Given the description of an element on the screen output the (x, y) to click on. 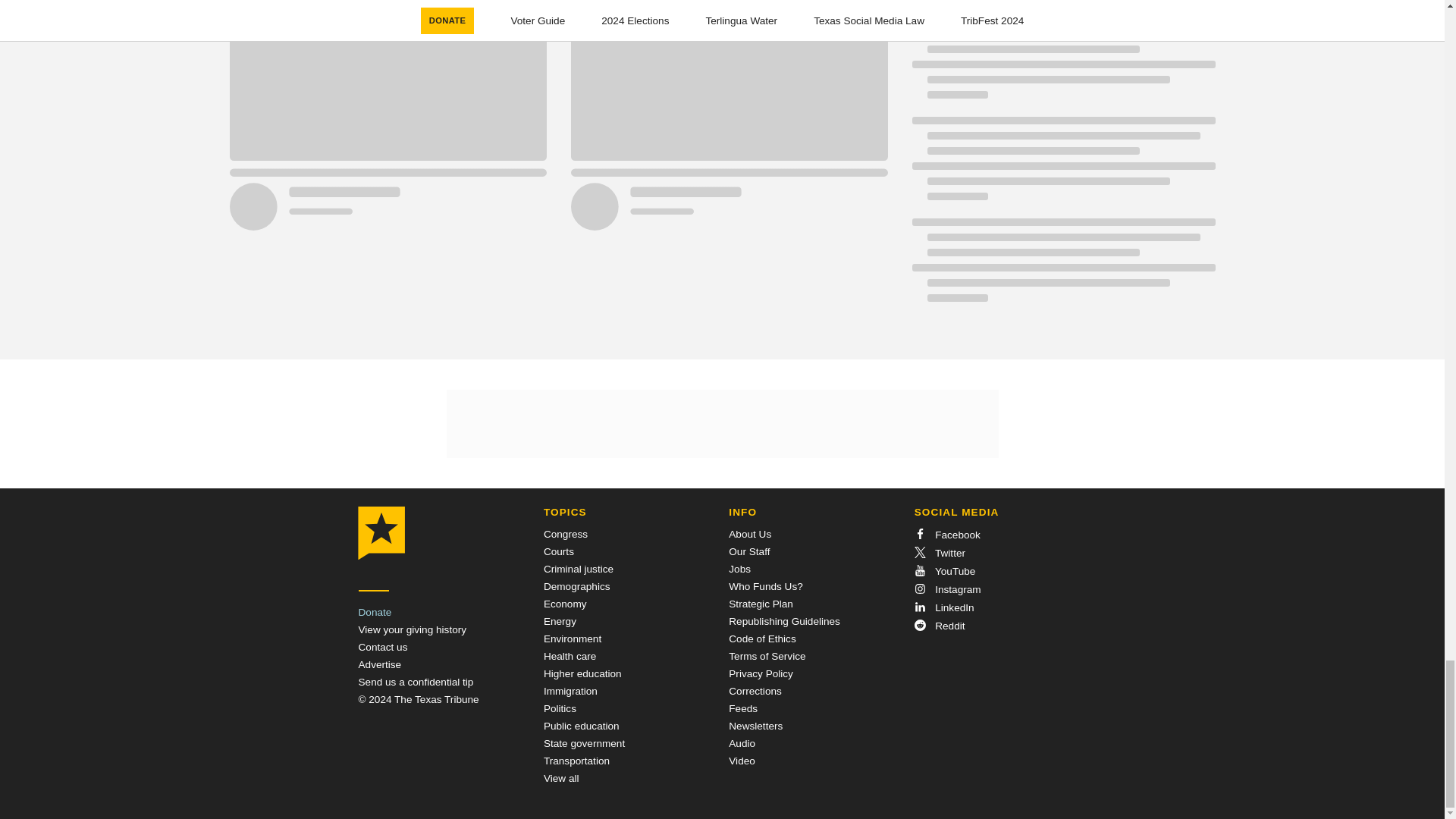
Corrections (755, 690)
About Us (750, 533)
Newsletters (756, 726)
Terms of Service (767, 655)
Who Funds Us? (765, 586)
Feeds (743, 708)
Video (742, 760)
Facebook (946, 534)
Loading indicator (1062, 5)
Strategic Plan (761, 603)
